Given the description of an element on the screen output the (x, y) to click on. 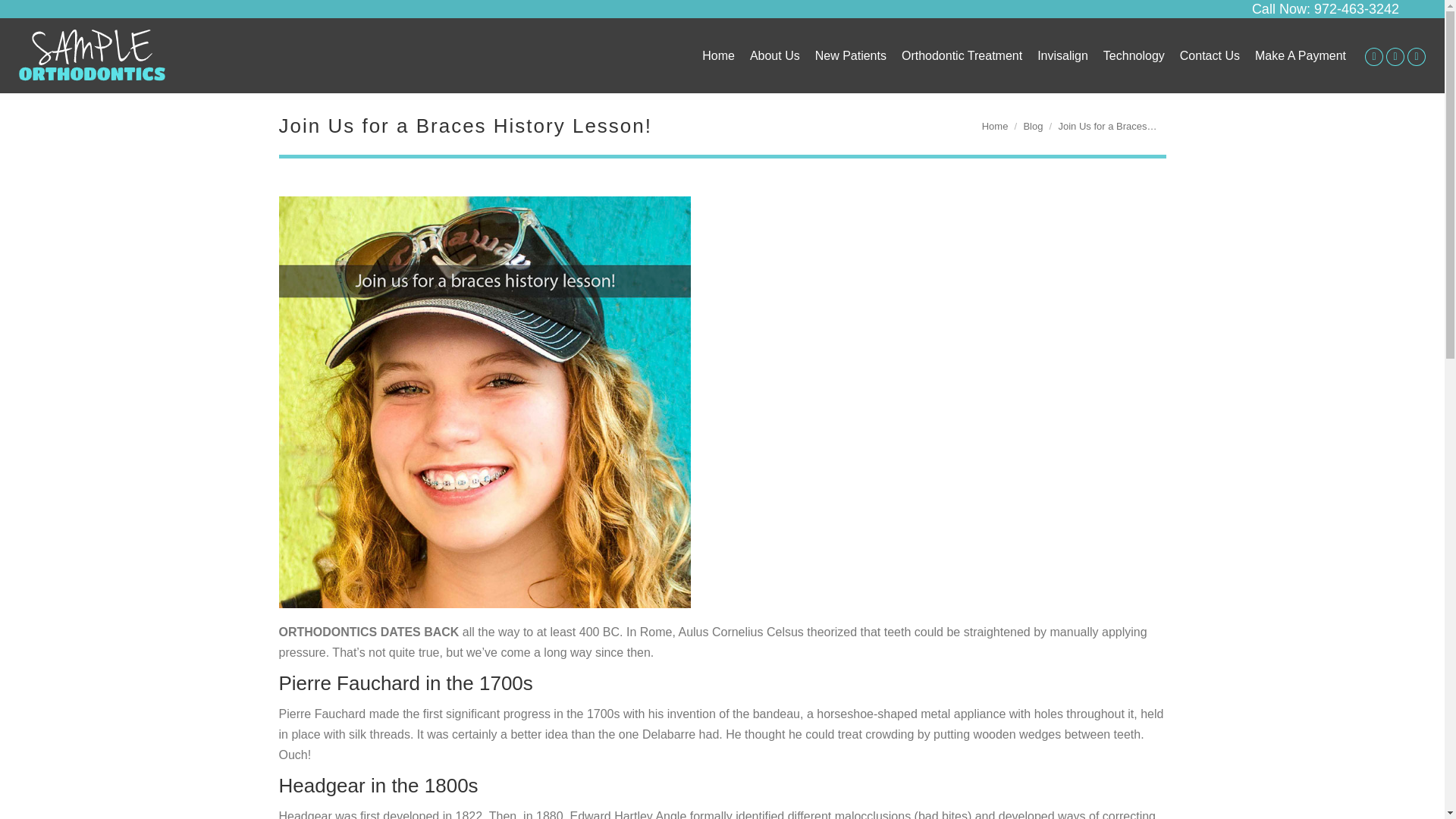
Technology (1133, 55)
Make A Payment (1300, 55)
New Patients (850, 55)
Facebook page opens in new window (1374, 56)
Contact Us (1209, 55)
About Us (774, 55)
Home (718, 55)
Yelp page opens in new window (1416, 56)
Facebook page opens in new window (1374, 56)
Invisalign (1061, 55)
Instagram page opens in new window (1395, 56)
Orthodontic Treatment (961, 55)
